Given the description of an element on the screen output the (x, y) to click on. 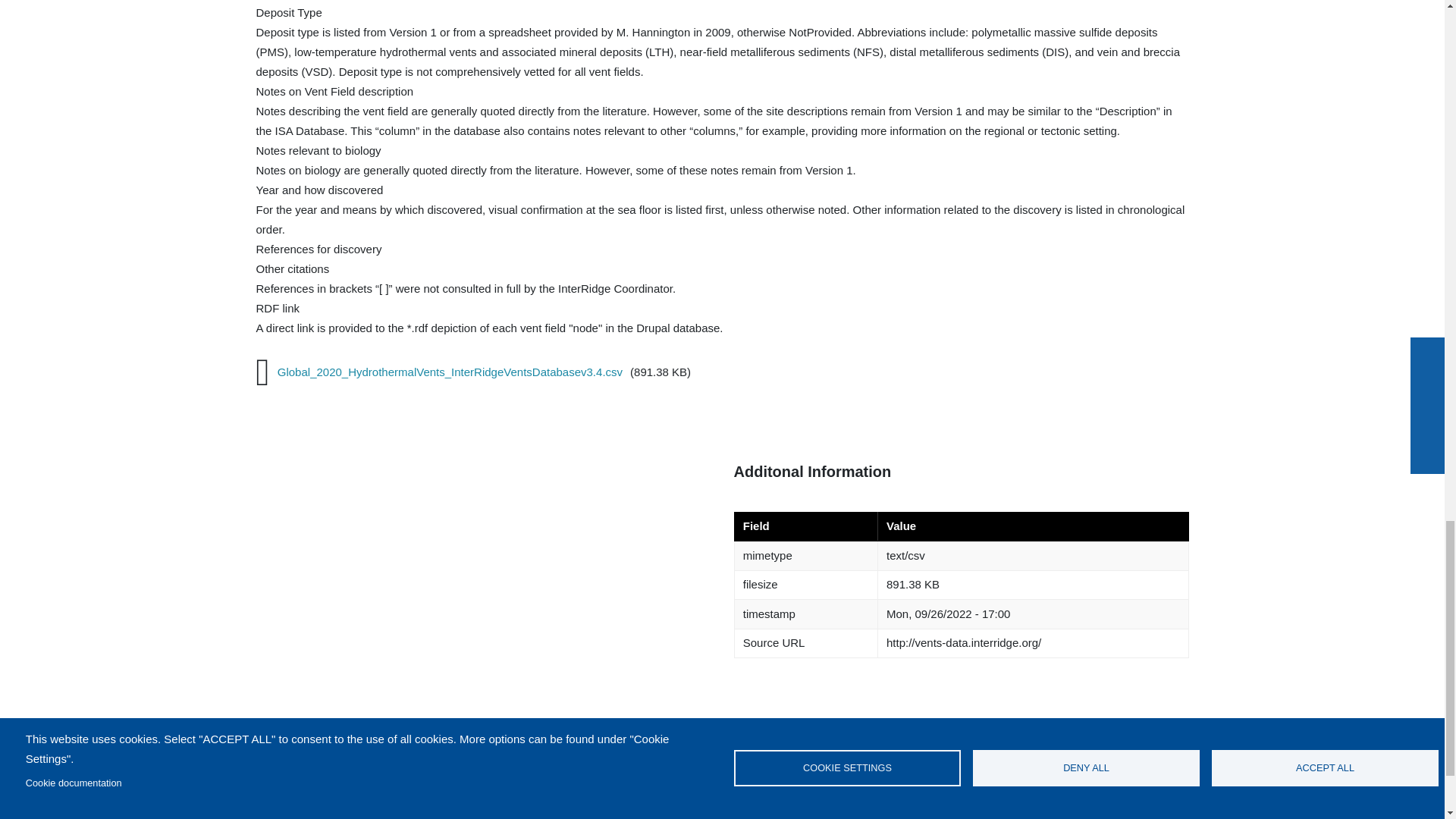
Inform Project (761, 810)
United Nations Environment Programme (438, 810)
Pacific Community (932, 810)
Global Environment Facility (313, 810)
Pacific Regional Environment Programme (592, 810)
Pacific Data Hub (1103, 813)
